Given the description of an element on the screen output the (x, y) to click on. 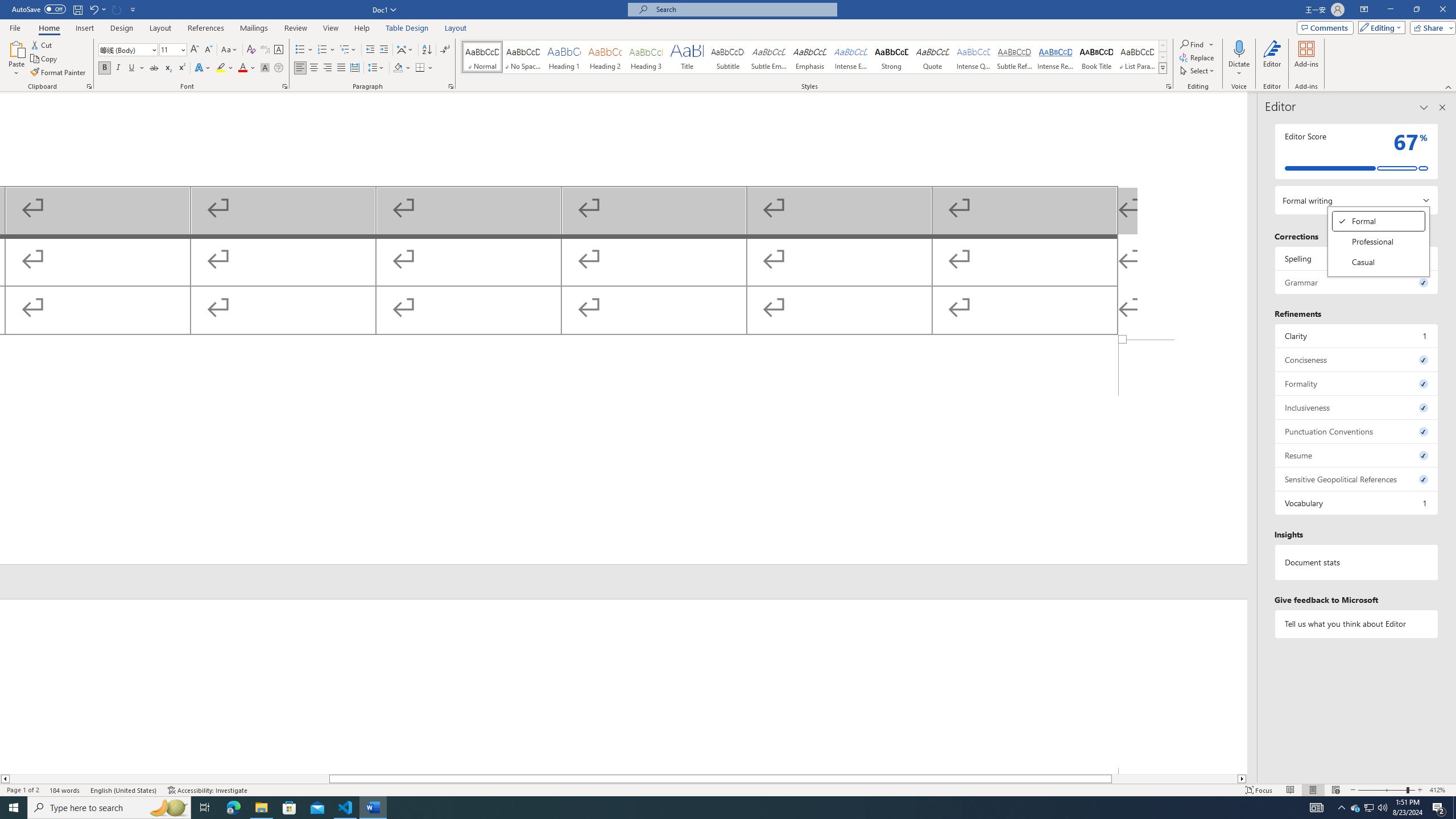
Page right (1174, 778)
Intense Quote (973, 56)
Page left (169, 778)
Title (686, 56)
Tell us what you think about Editor (1356, 624)
Microsoft Edge (233, 807)
AutomationID: 4105 (1316, 807)
Task View (204, 807)
